Given the description of an element on the screen output the (x, y) to click on. 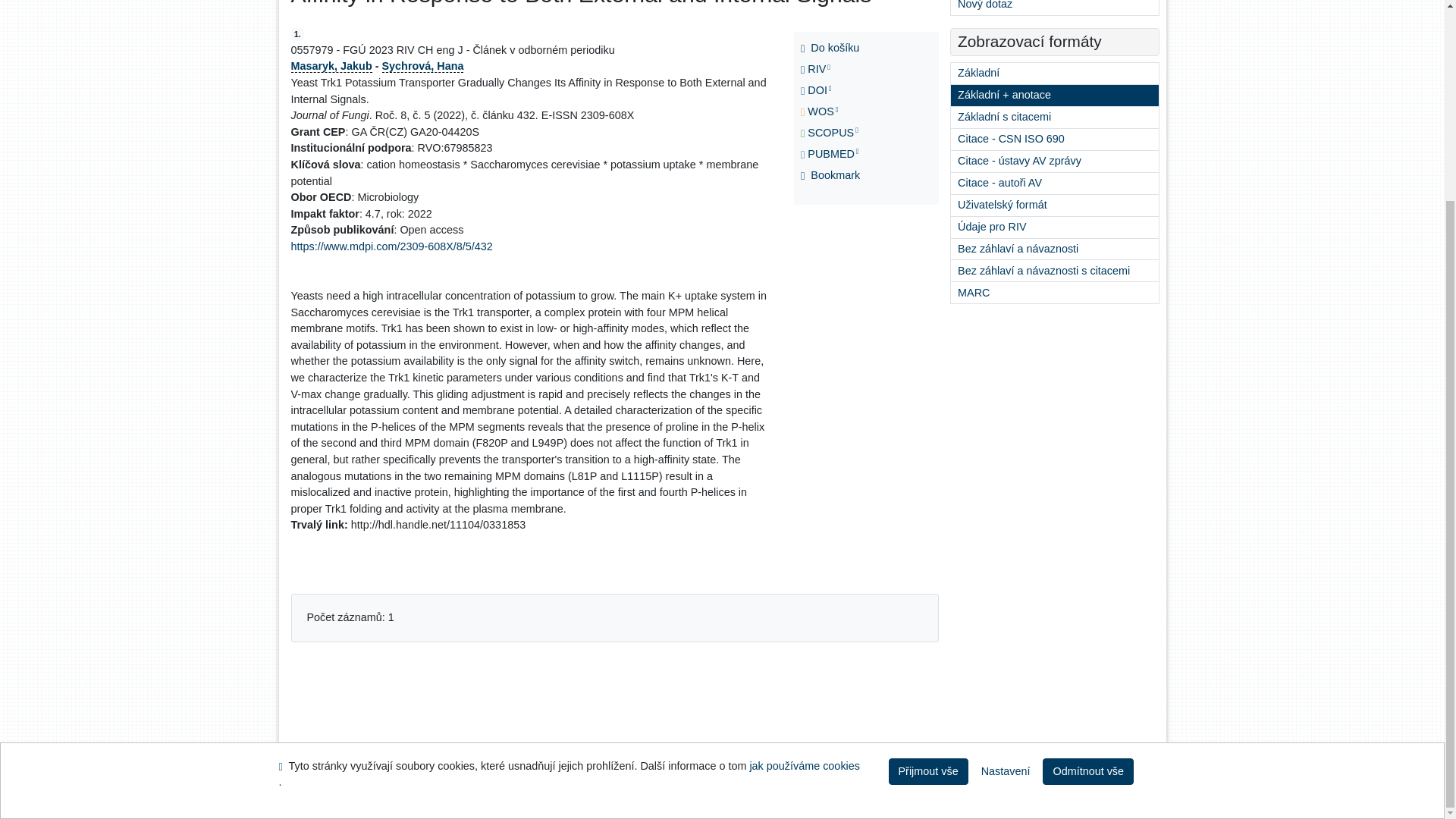
Citace - CSN ISO 690 (1054, 138)
Masaryk, Jakub (331, 65)
 WOS (832, 111)
 PUBMED (832, 154)
 RIV (832, 69)
 SCOPUS (832, 133)
  Bookmark (832, 175)
 DOI (832, 90)
